Given the description of an element on the screen output the (x, y) to click on. 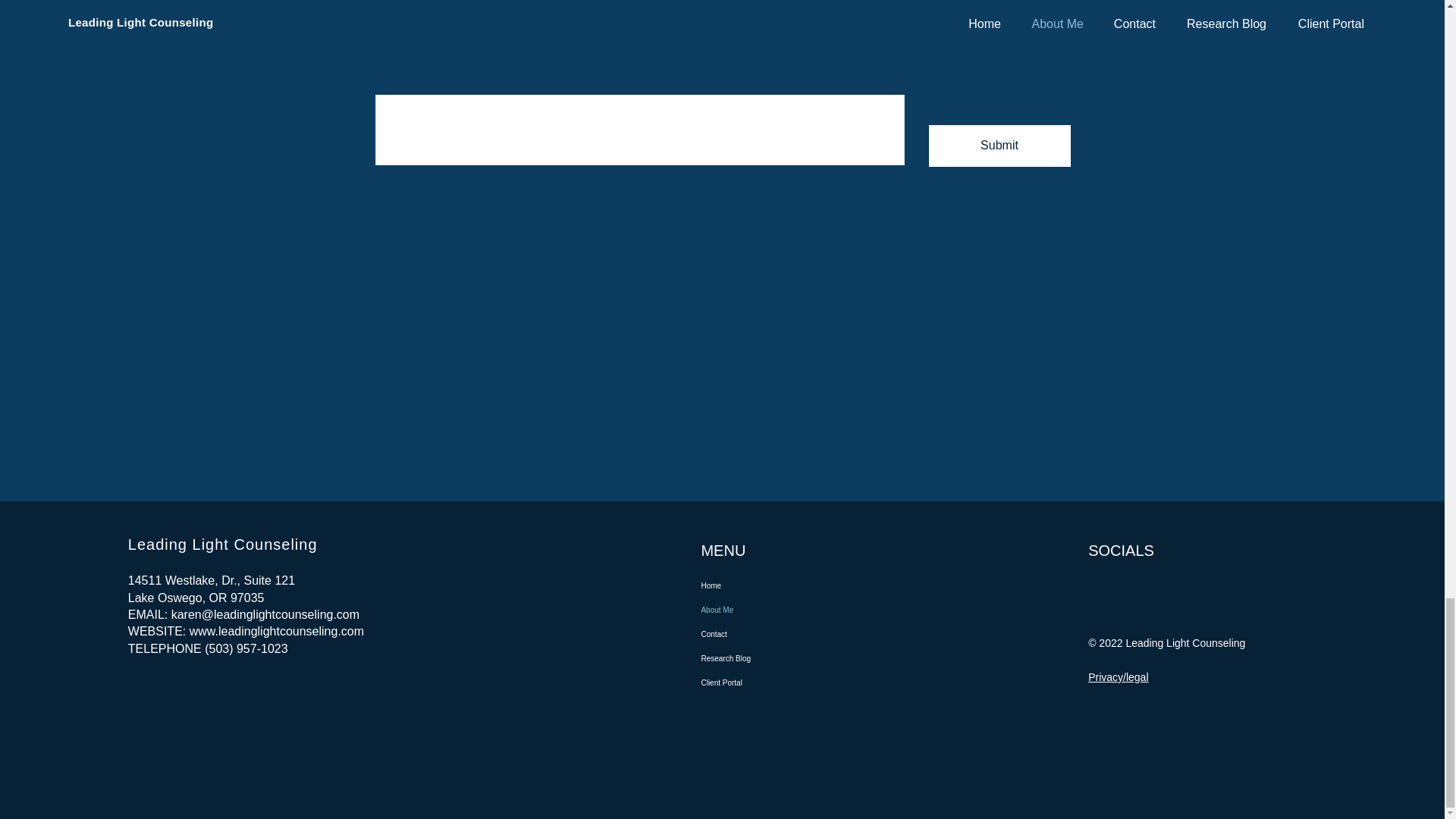
www.leadinglightcounseling.com (276, 631)
Home (771, 586)
Submit (999, 146)
Research Blog (771, 658)
Leading Light Counseling (222, 544)
About Me (771, 610)
Client Portal (771, 682)
Contact (771, 634)
